Given the description of an element on the screen output the (x, y) to click on. 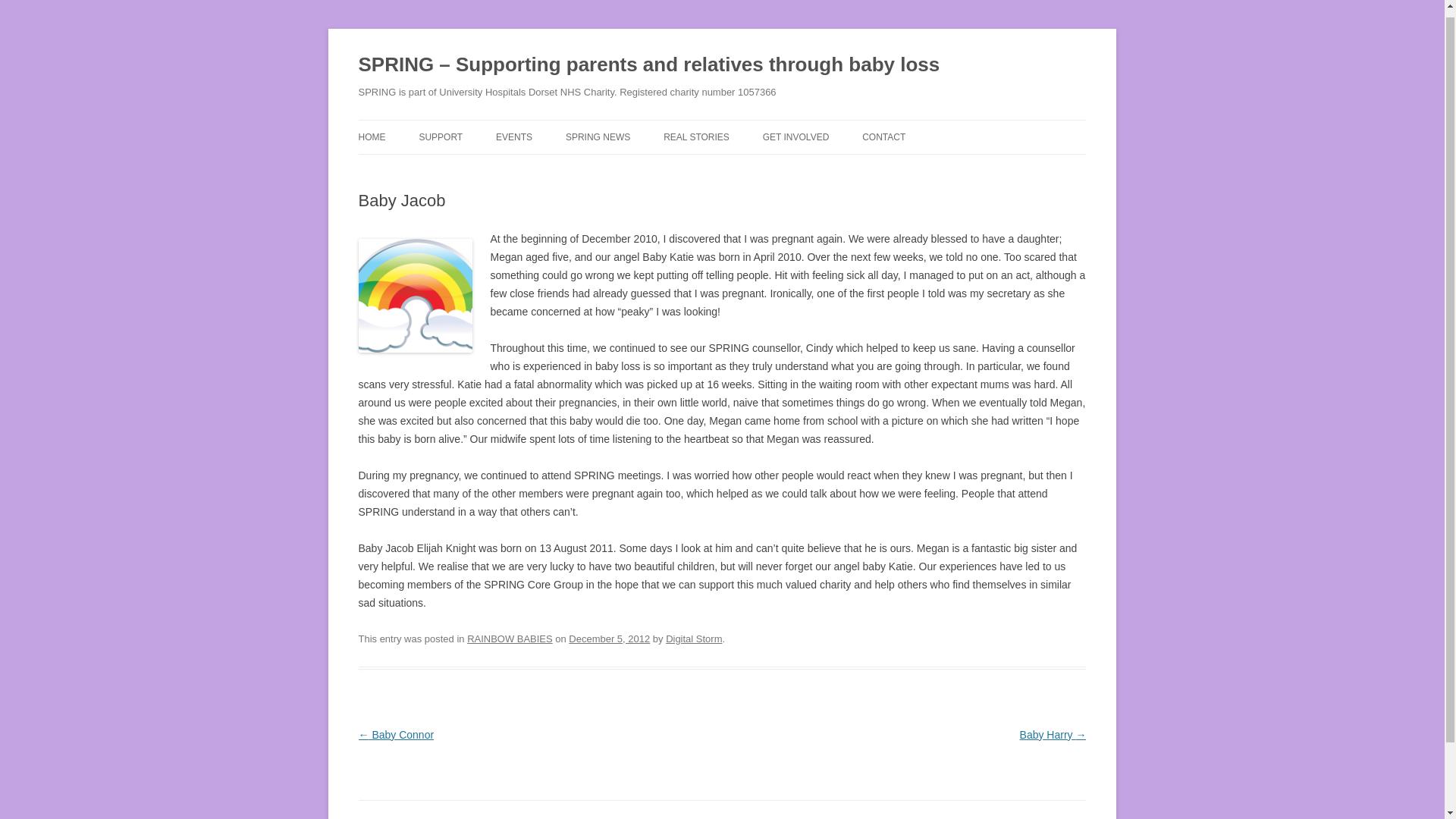
SUPPORT (441, 136)
SPRING NEWS (598, 136)
Digital Storm (693, 638)
3:08 pm (609, 638)
View all posts by Digital Storm (693, 638)
RAINBOW BABIES (510, 638)
EVENTS (514, 136)
REAL STORIES (696, 136)
GET INVOLVED (795, 136)
December 5, 2012 (609, 638)
CONTACT (883, 136)
BABY MILA (739, 169)
